Given the description of an element on the screen output the (x, y) to click on. 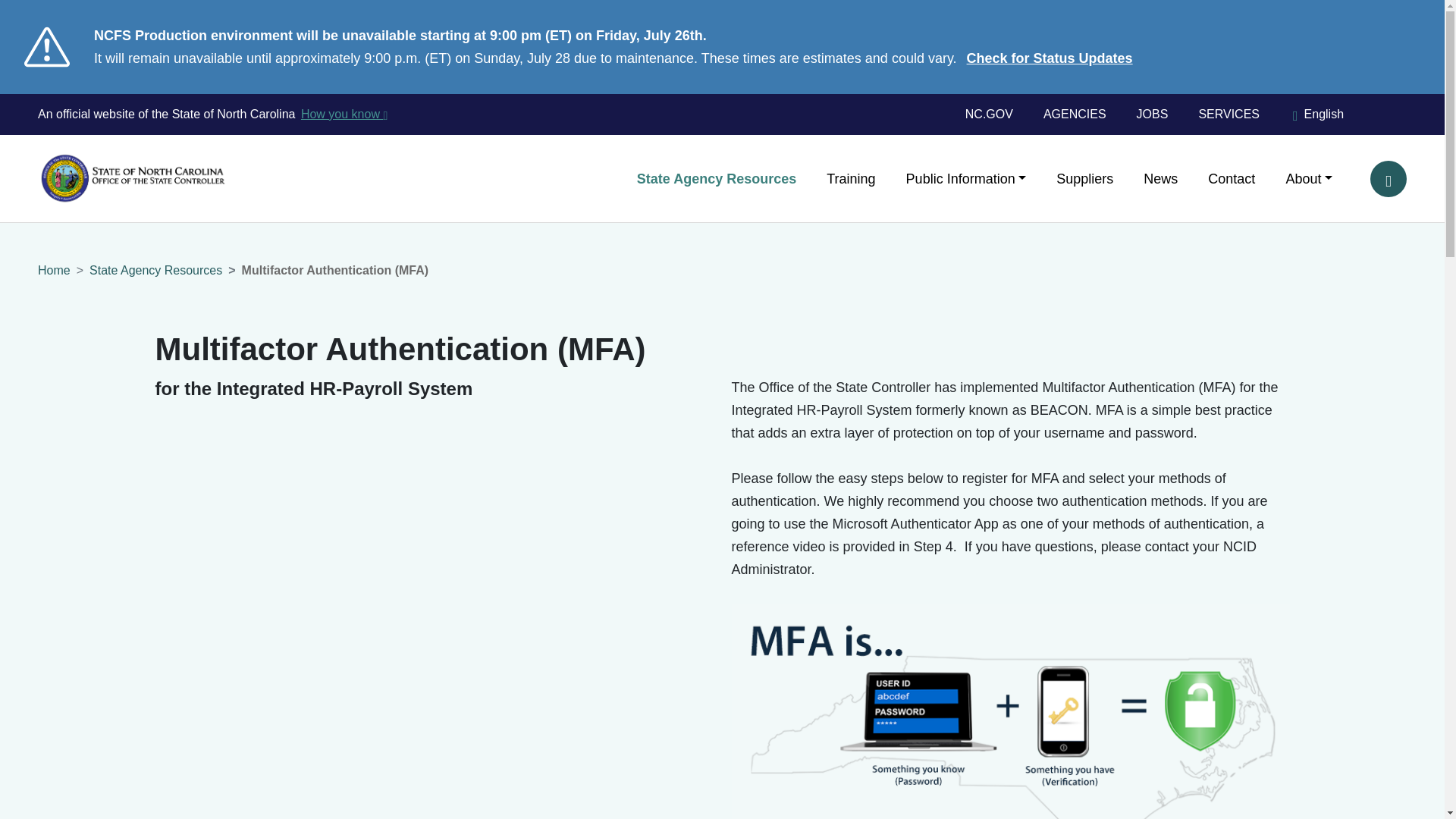
Contact (1230, 177)
How you know (342, 114)
AGENCIES (1074, 114)
SERVICES (1228, 114)
Suppliers (1084, 177)
News (1160, 177)
NC.GOV (996, 114)
Public Information (966, 177)
Home (116, 155)
JOBS (1152, 114)
Training (849, 177)
About (1300, 177)
Home (53, 269)
State Agency Resources (155, 269)
State Agency Resources (715, 177)
